Given the description of an element on the screen output the (x, y) to click on. 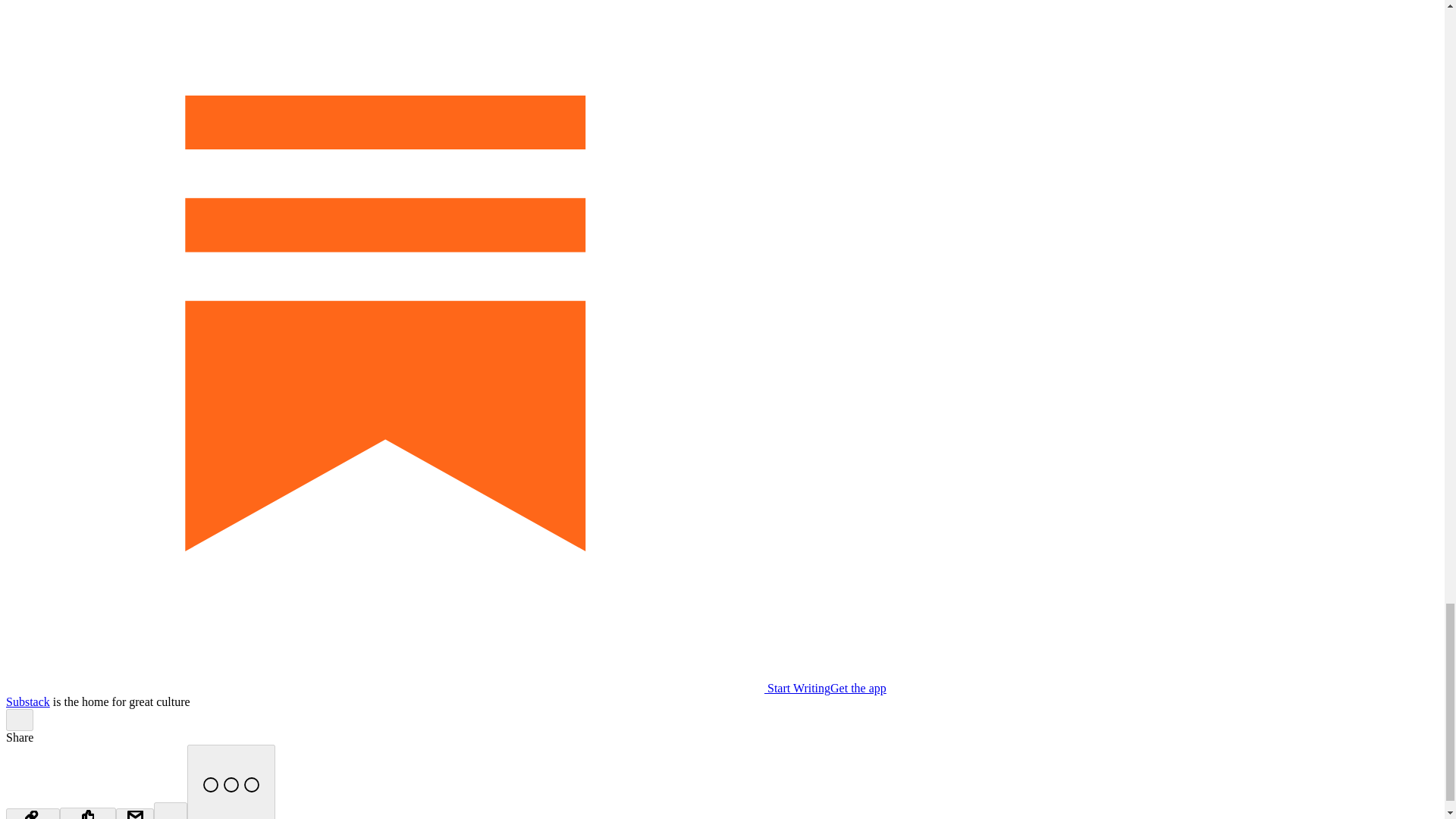
Start Writing (417, 687)
Get the app (857, 687)
Substack (27, 701)
